Given the description of an element on the screen output the (x, y) to click on. 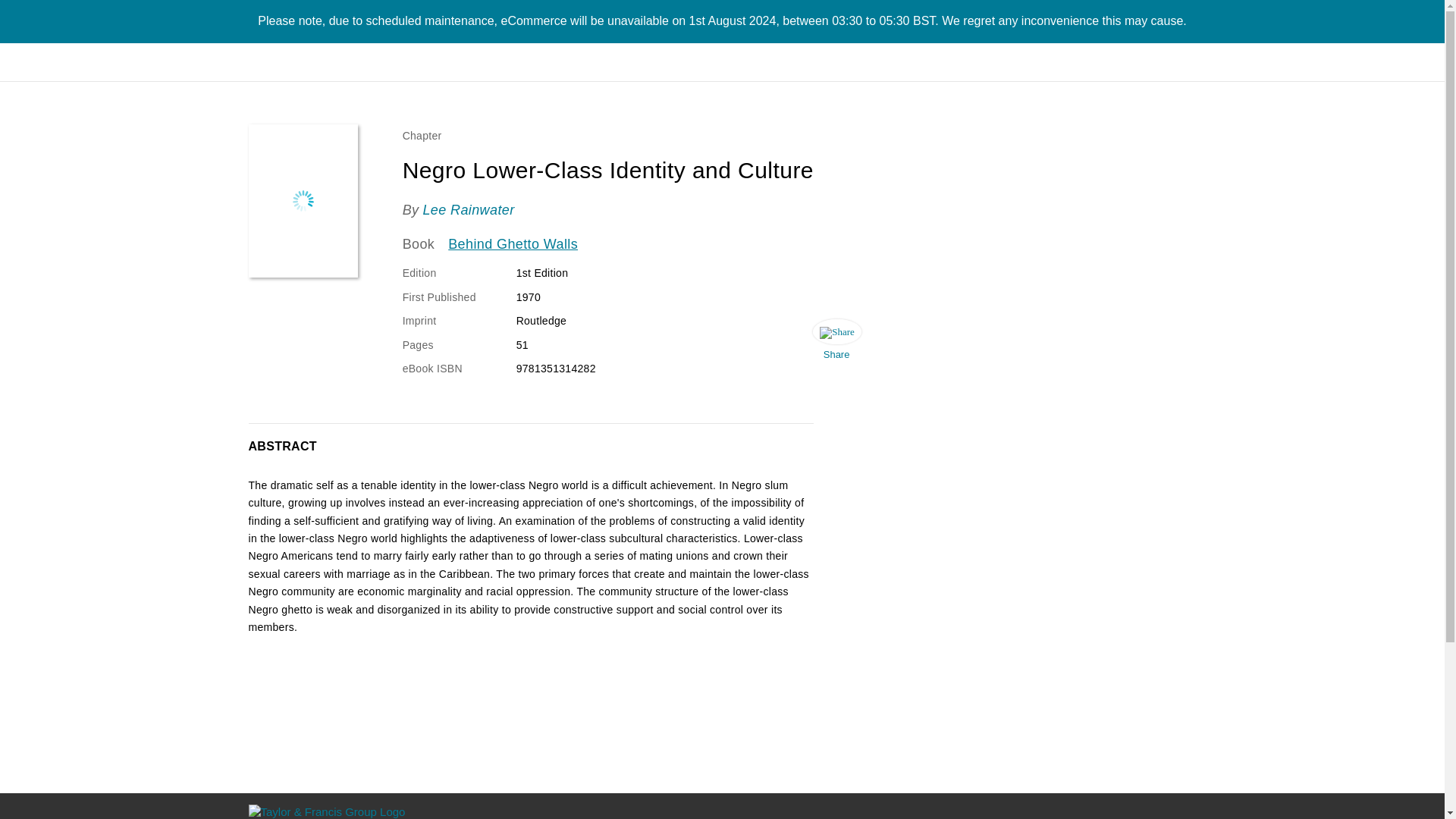
Behind Ghetto Walls (513, 244)
Share (836, 343)
Lee Rainwater (467, 209)
